Given the description of an element on the screen output the (x, y) to click on. 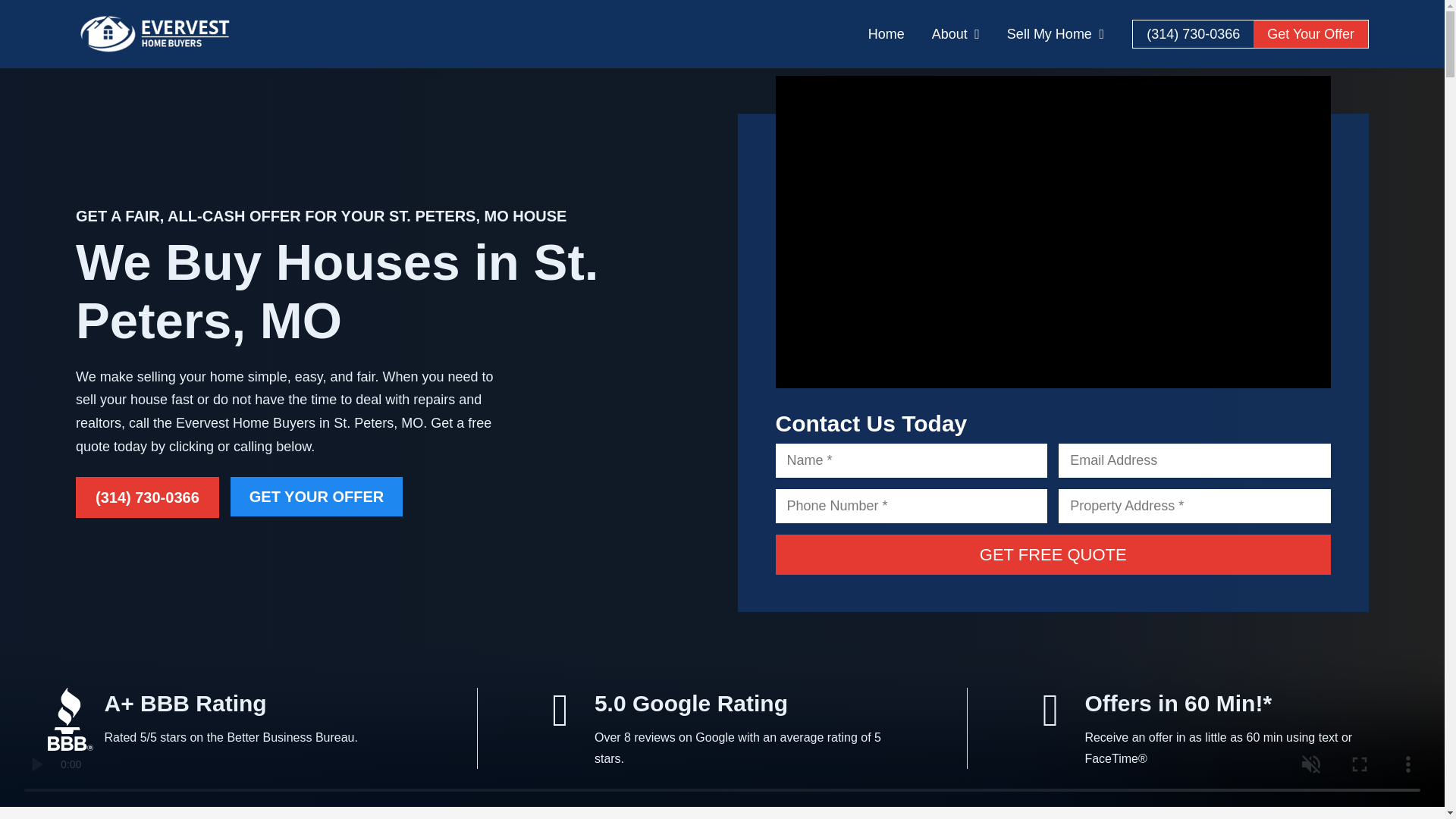
Get Free Quote (1052, 554)
Get Your Offer (1310, 33)
GET YOUR OFFER (316, 496)
Home (886, 33)
About (955, 33)
Get Free Quote (1052, 554)
Sell My Home (1055, 33)
